Given the description of an element on the screen output the (x, y) to click on. 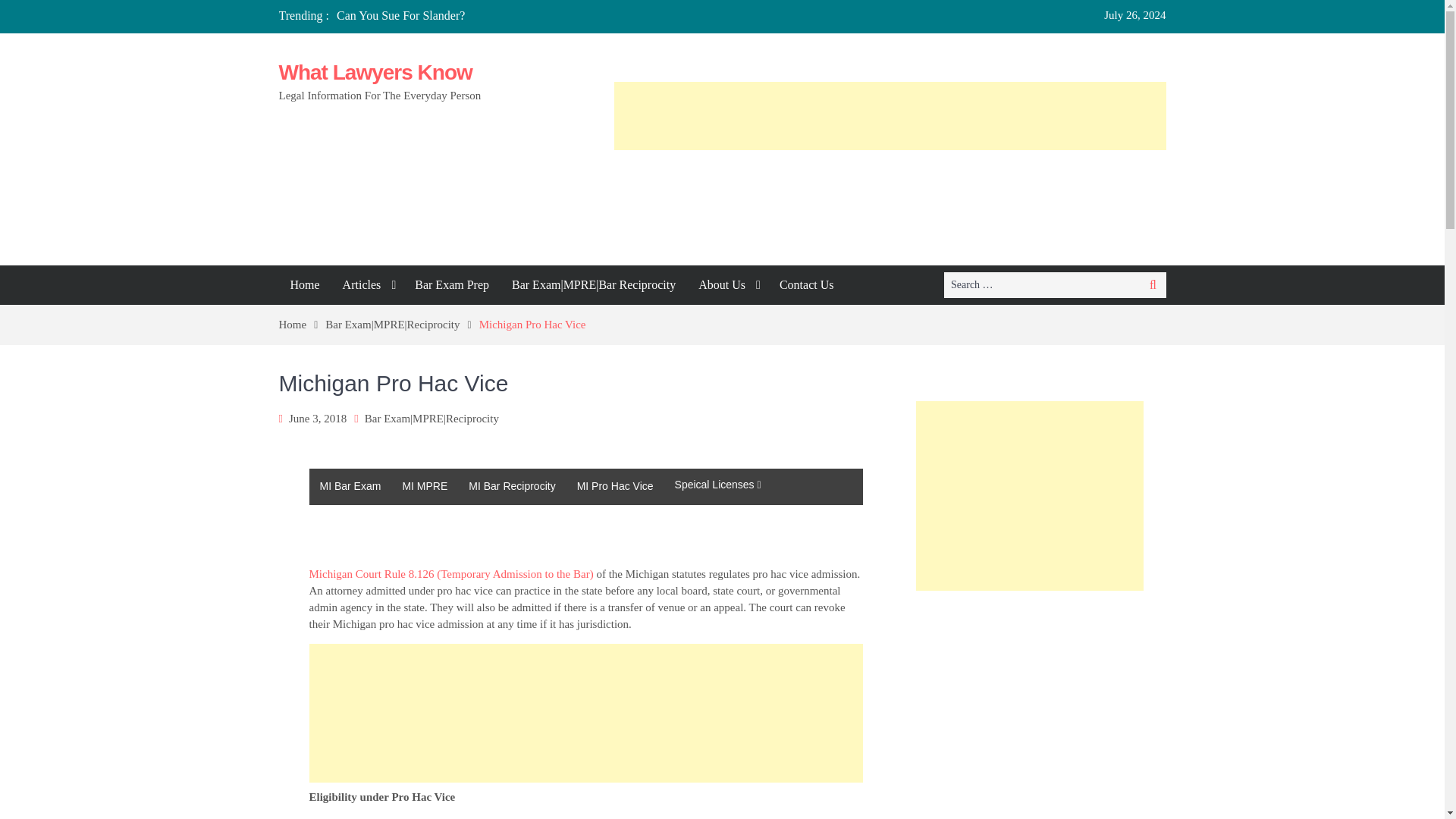
MI Pro Hac Vice (614, 486)
About Us (727, 284)
MI MPRE (424, 486)
Can You Sue For Slander? (400, 15)
Bar Exam Prep (451, 284)
June 3, 2018 (317, 418)
MI Bar Reciprocity (512, 486)
Speical Licenses (717, 484)
Contact Us (806, 284)
What Lawyers Know (375, 72)
Articles (367, 284)
Search (1153, 284)
Home (302, 324)
MI Bar Exam (349, 486)
Home (305, 284)
